Given the description of an element on the screen output the (x, y) to click on. 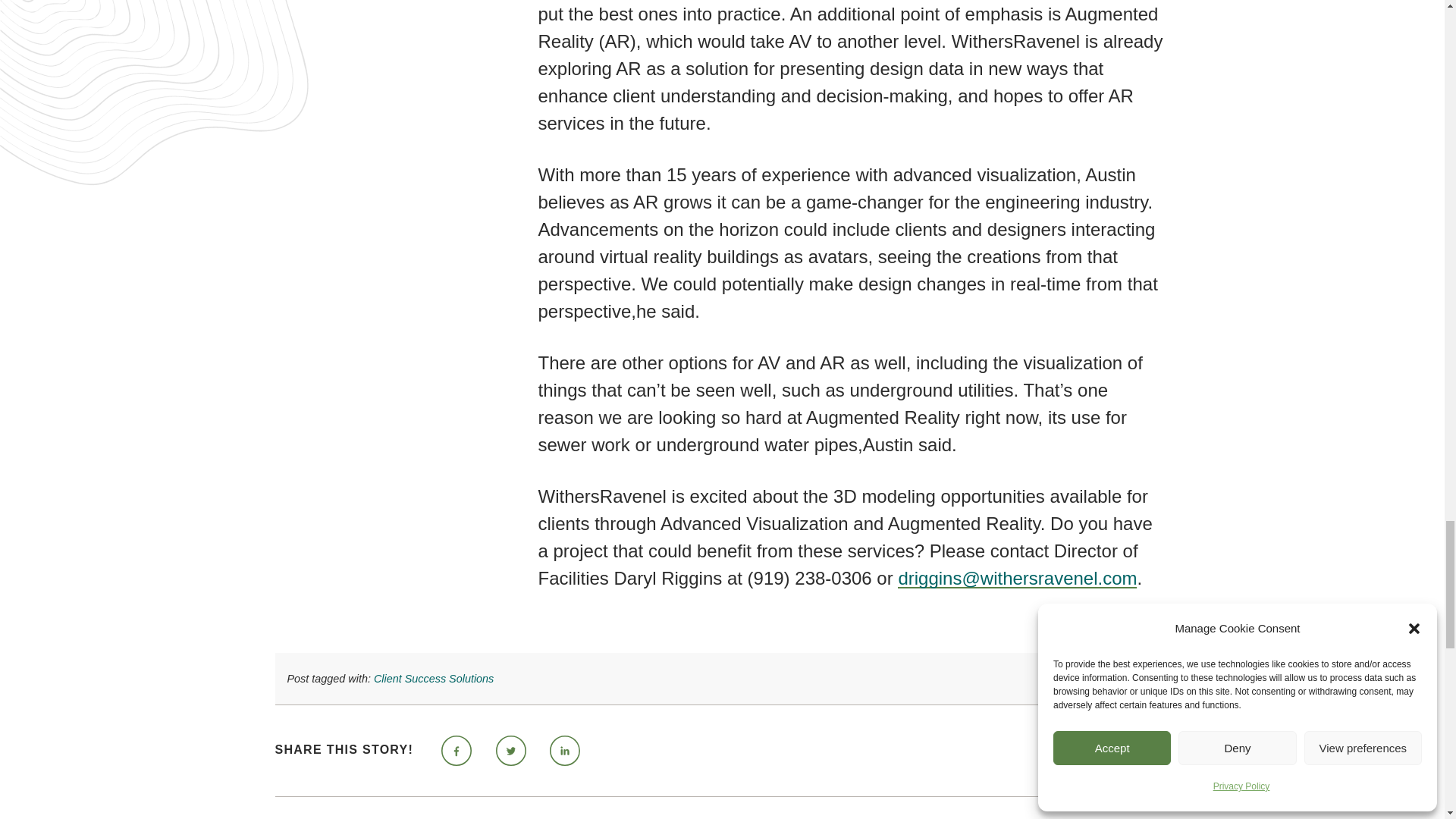
Share on Facebook (456, 750)
Share on LinkedIn (564, 750)
Share on Twitter (510, 750)
